Given the description of an element on the screen output the (x, y) to click on. 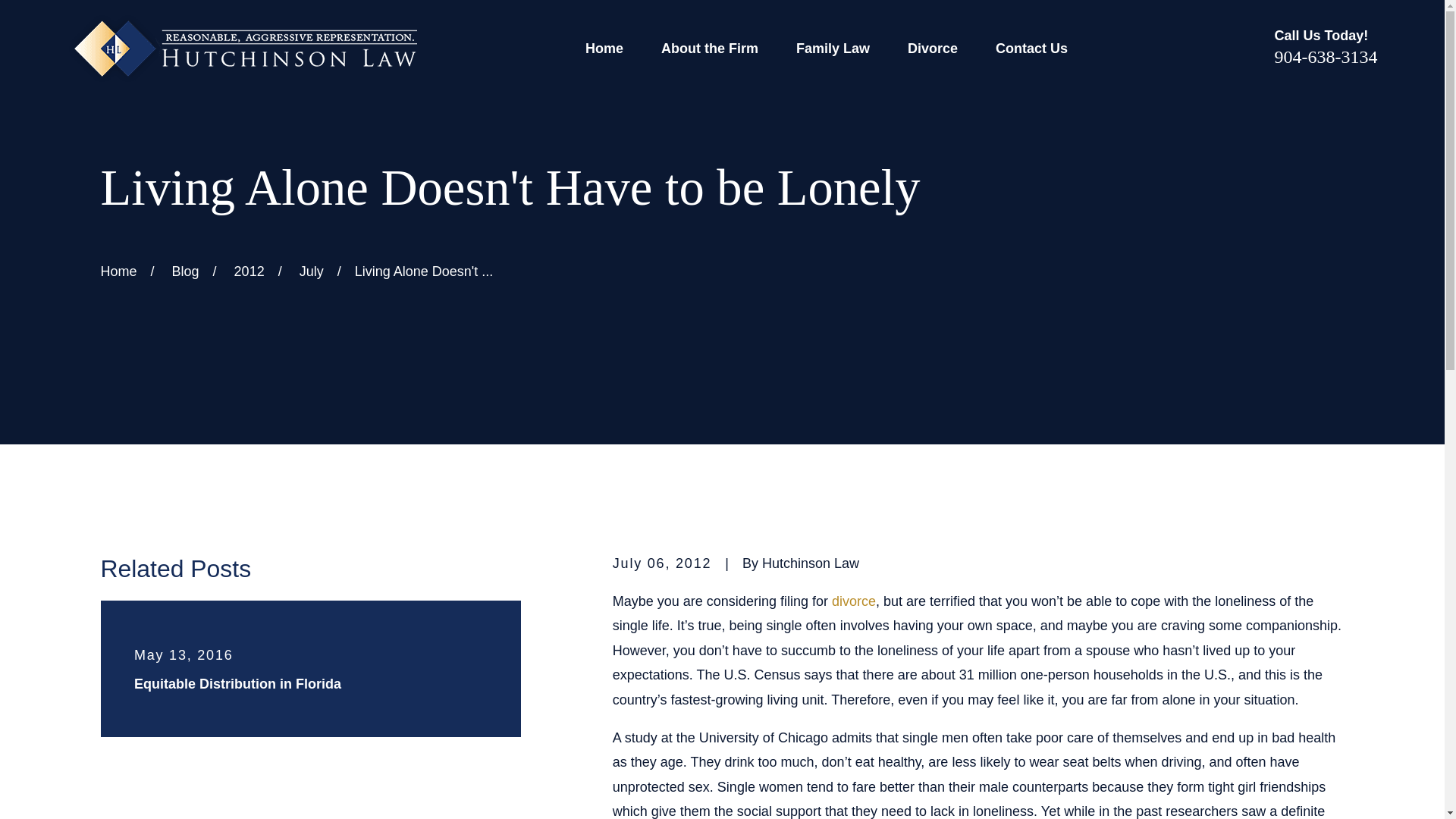
About the Firm (709, 48)
Go Home (118, 271)
Family Law (832, 48)
Home (241, 48)
